Given the description of an element on the screen output the (x, y) to click on. 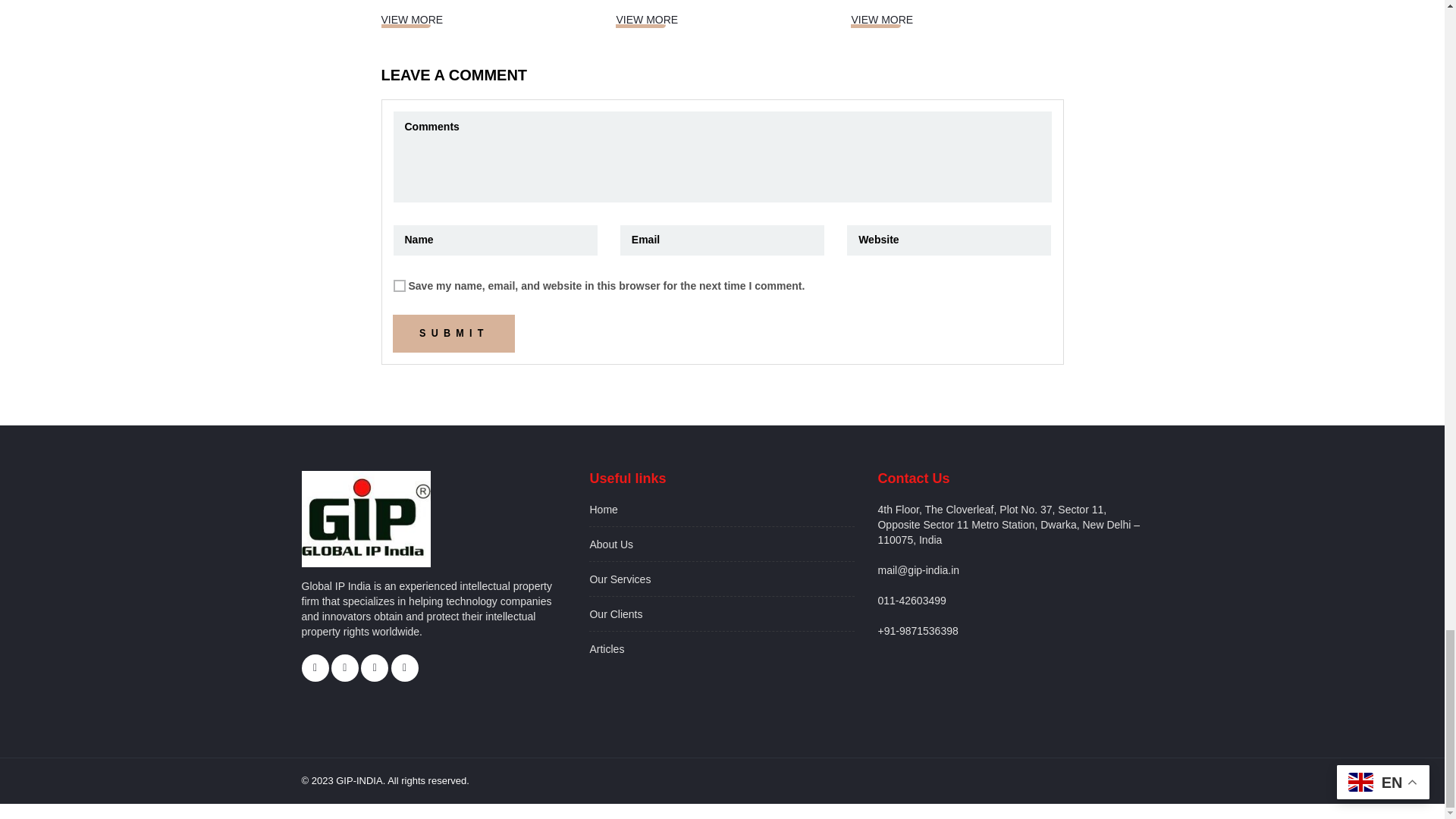
Read More (411, 19)
VIEW MORE (411, 19)
VIEW MORE (881, 19)
VIEW MORE (646, 19)
Read More (881, 19)
SUBMIT (454, 333)
Read More (646, 19)
